Given the description of an element on the screen output the (x, y) to click on. 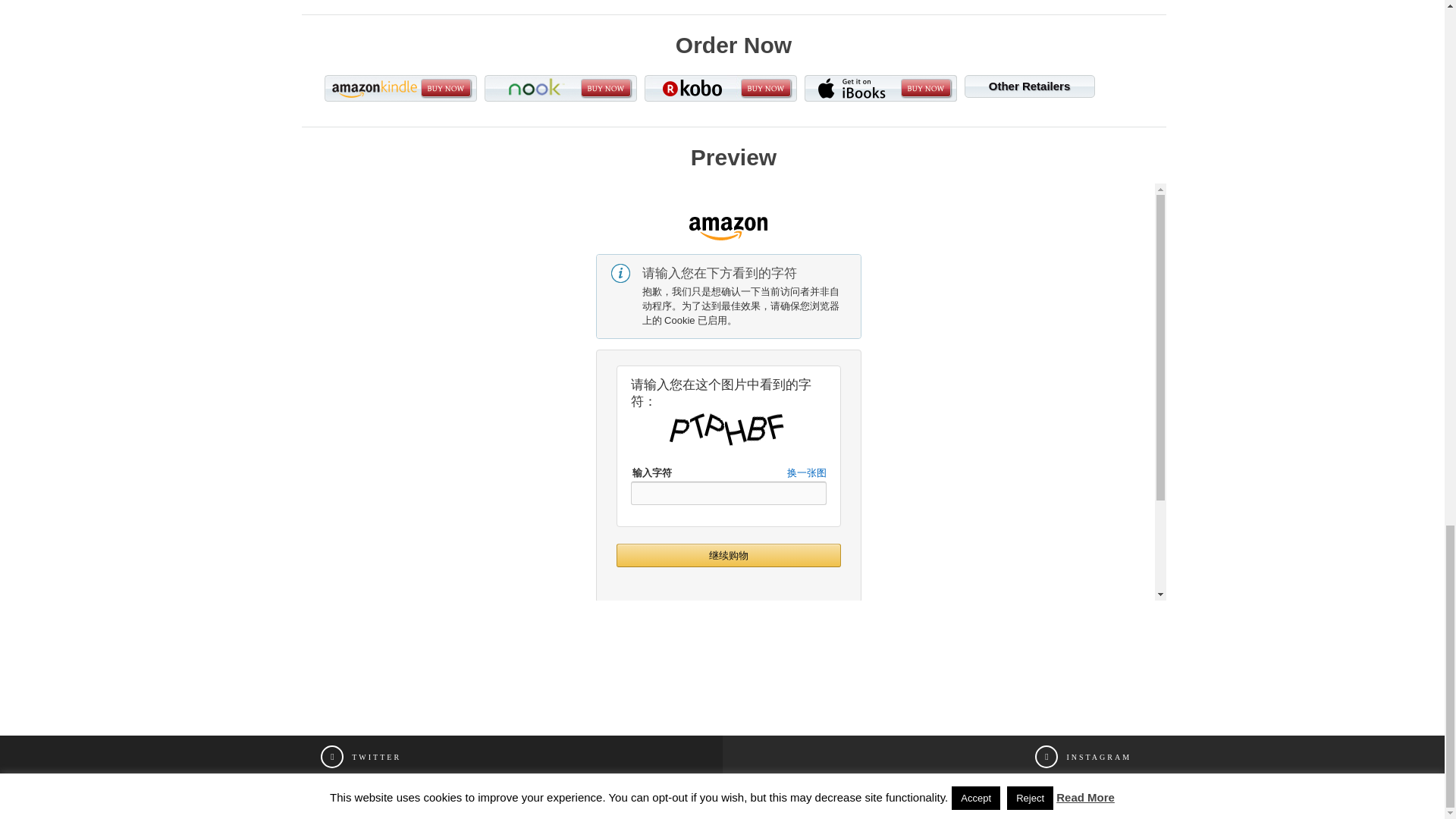
Other Retailers (1028, 86)
  TWITTER (361, 756)
PRIVACY POLICY (867, 797)
AZ-THEME (790, 797)
